Given the description of an element on the screen output the (x, y) to click on. 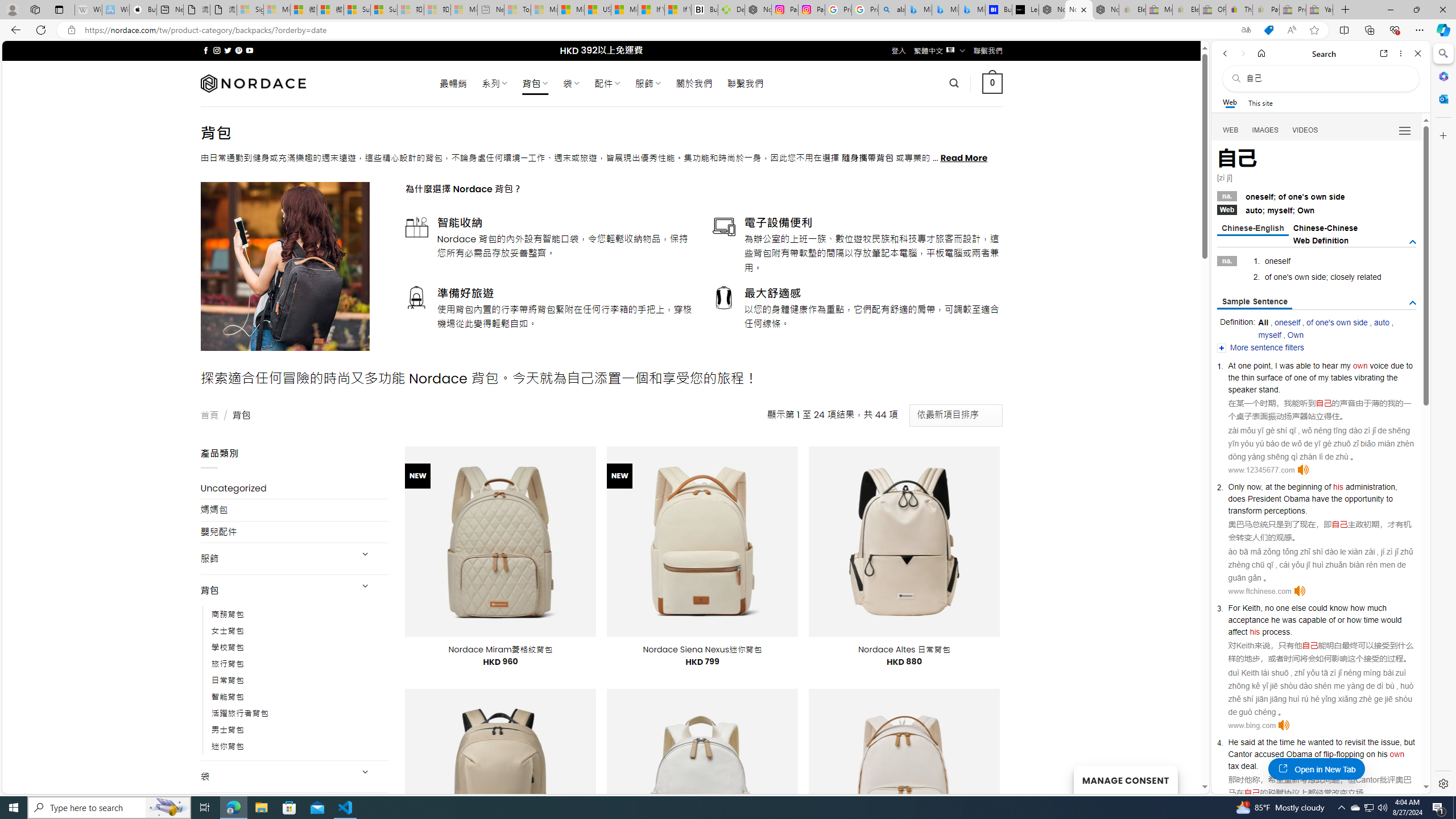
he (1275, 619)
capable (1312, 619)
perceptions (1283, 510)
